Given the description of an element on the screen output the (x, y) to click on. 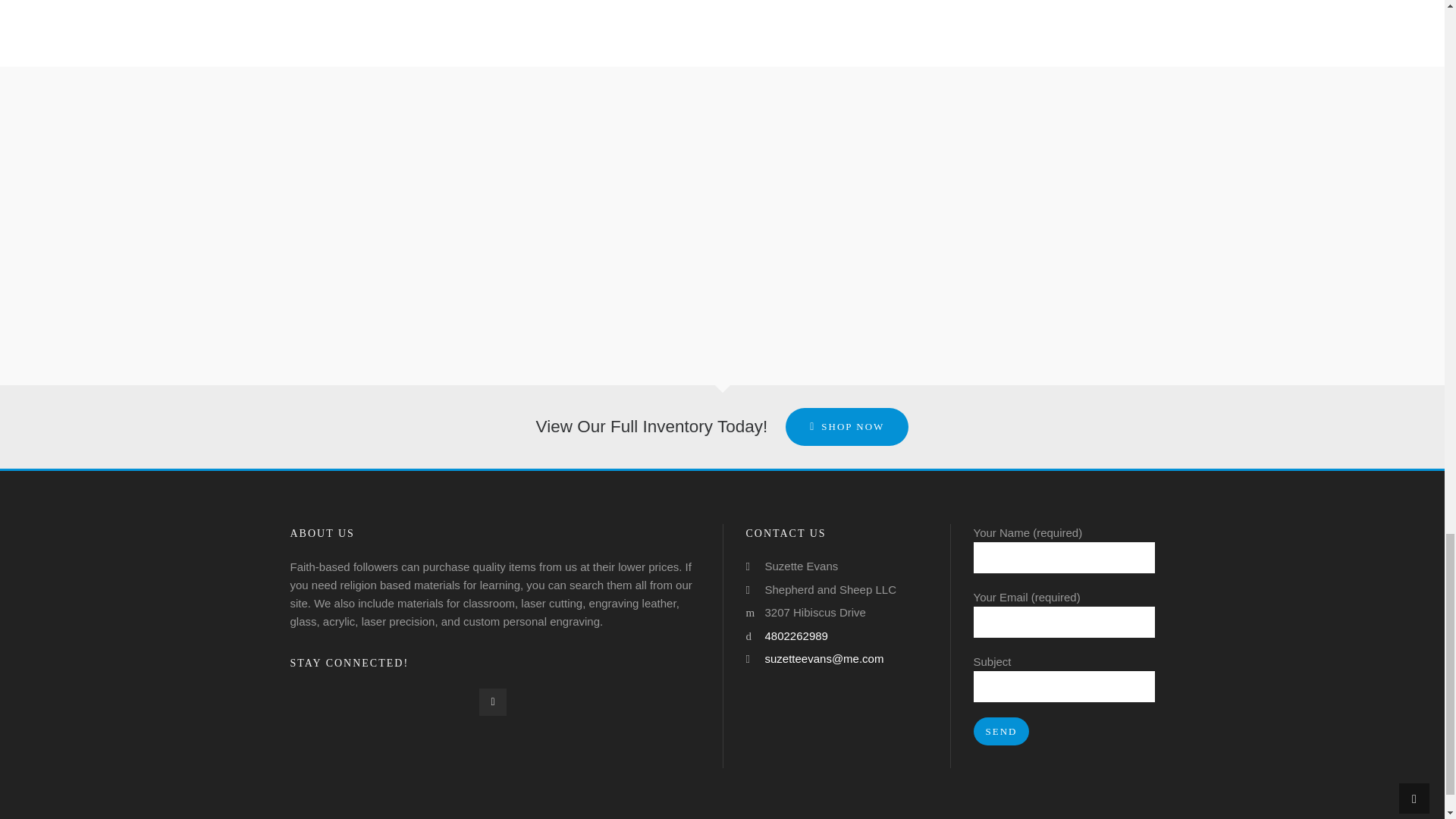
Send (1001, 731)
4802262989 (795, 635)
SHOP NOW (847, 426)
Send (1001, 731)
